Given the description of an element on the screen output the (x, y) to click on. 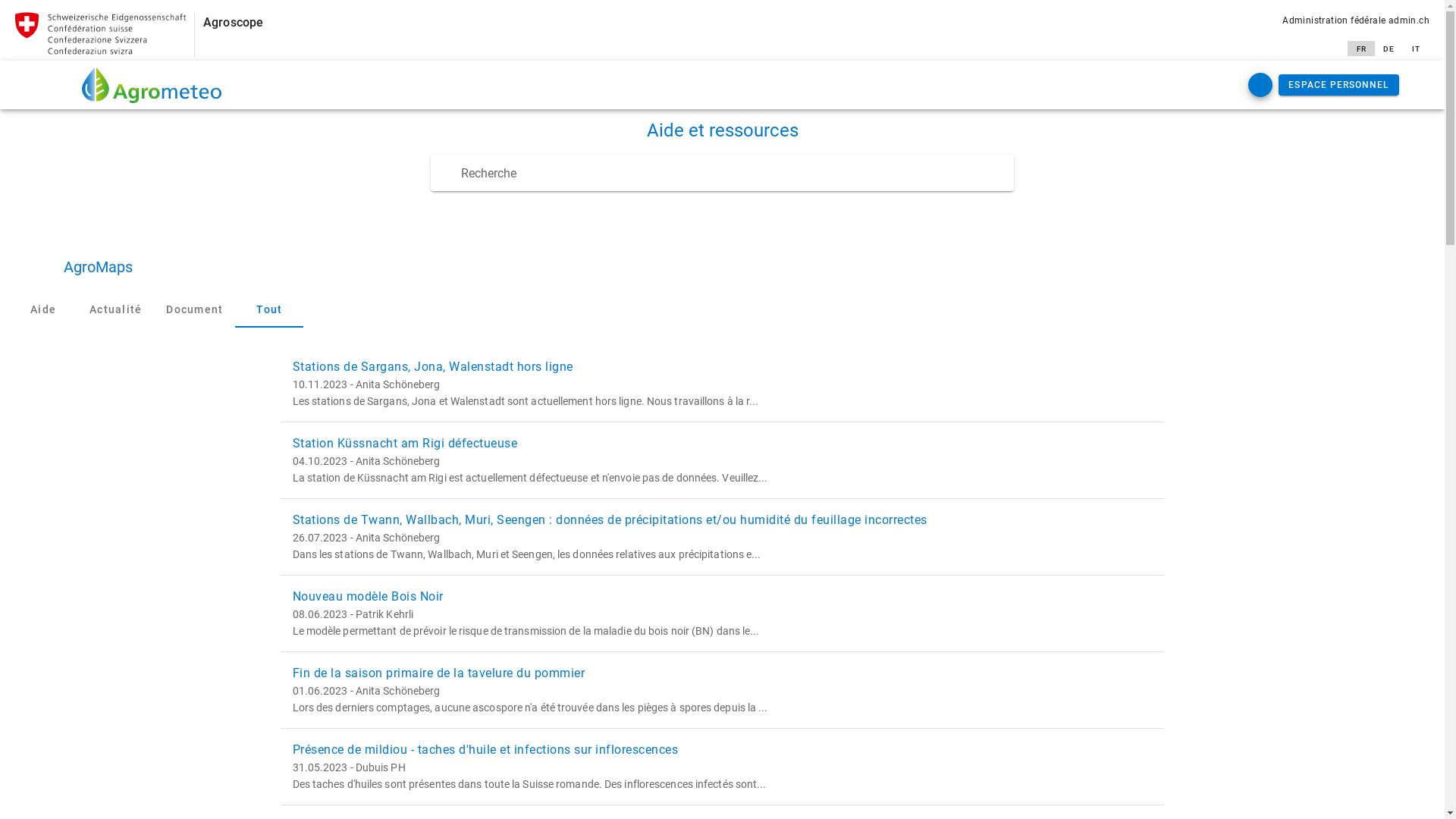
Tout Element type: text (269, 309)
DE Element type: text (1388, 48)
Accueil Element type: hover (151, 84)
FR Element type: text (1360, 48)
Document Element type: text (194, 309)
ESPACE PERSONNEL Element type: text (1338, 84)
Aide Element type: text (43, 309)
IT Element type: text (1415, 48)
Agroscope Element type: text (233, 22)
Aide et ressources Element type: text (721, 130)
